Given the description of an element on the screen output the (x, y) to click on. 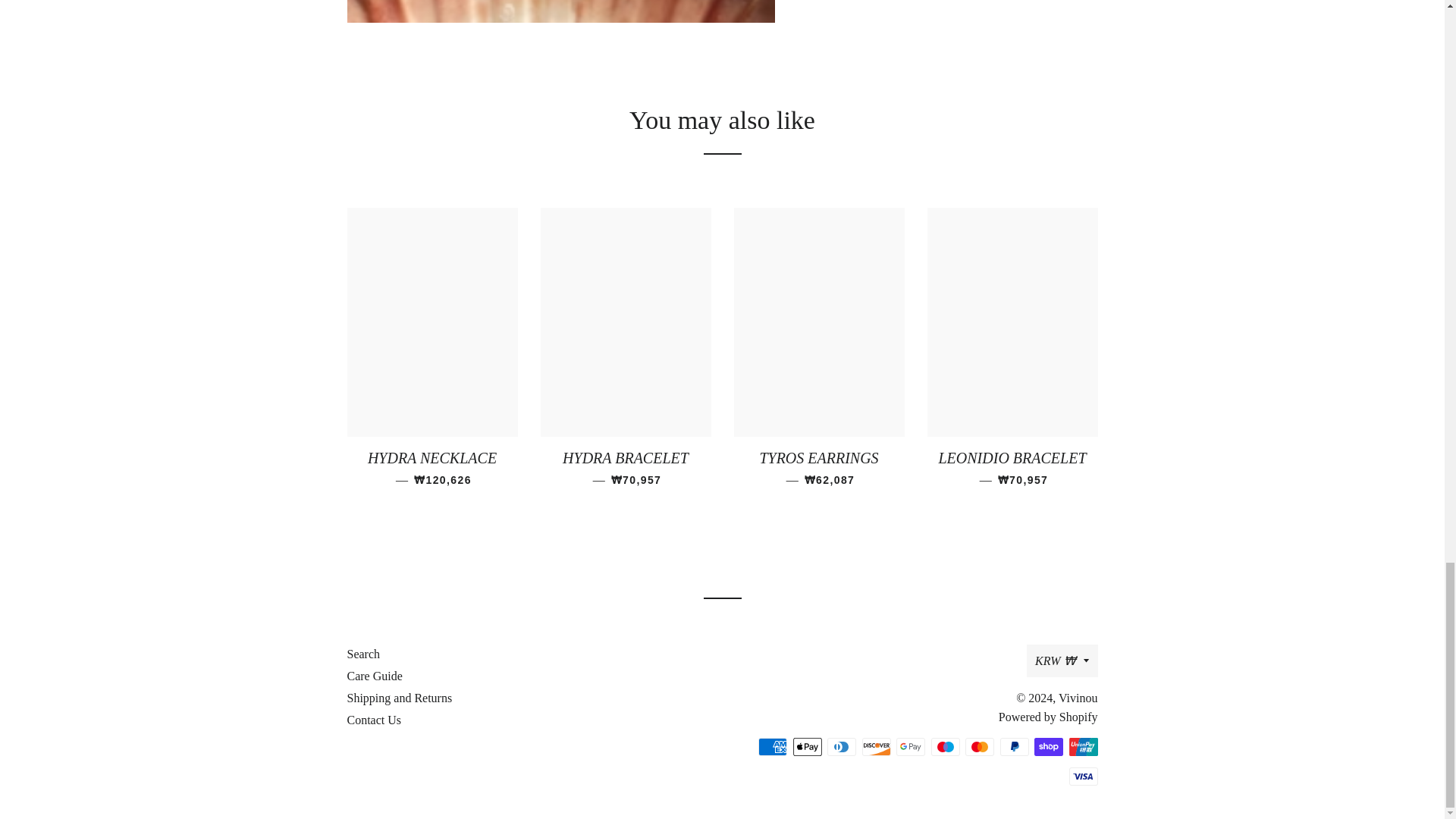
Union Pay (1082, 746)
Shop Pay (1047, 746)
Diners Club (841, 746)
Maestro (945, 746)
Visa (1082, 776)
American Express (772, 746)
Discover (875, 746)
Apple Pay (807, 746)
Google Pay (910, 746)
Mastercard (979, 746)
PayPal (1012, 746)
